Given the description of an element on the screen output the (x, y) to click on. 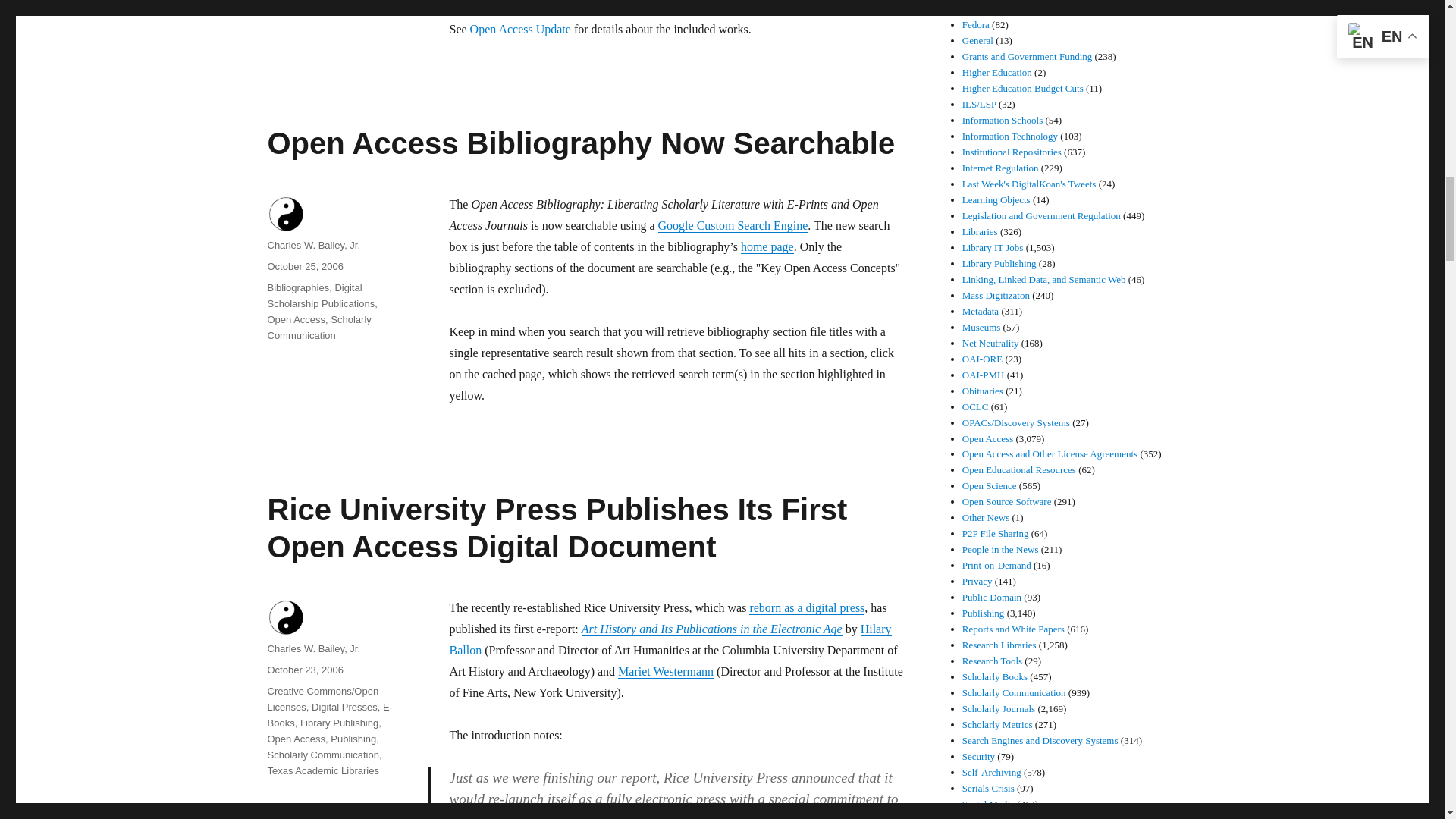
Google Custom Search Engine (733, 225)
Open Access Bibliography Now Searchable (580, 142)
Open Access Update (520, 29)
home page (767, 246)
Charles W. Bailey, Jr. (312, 244)
